Given the description of an element on the screen output the (x, y) to click on. 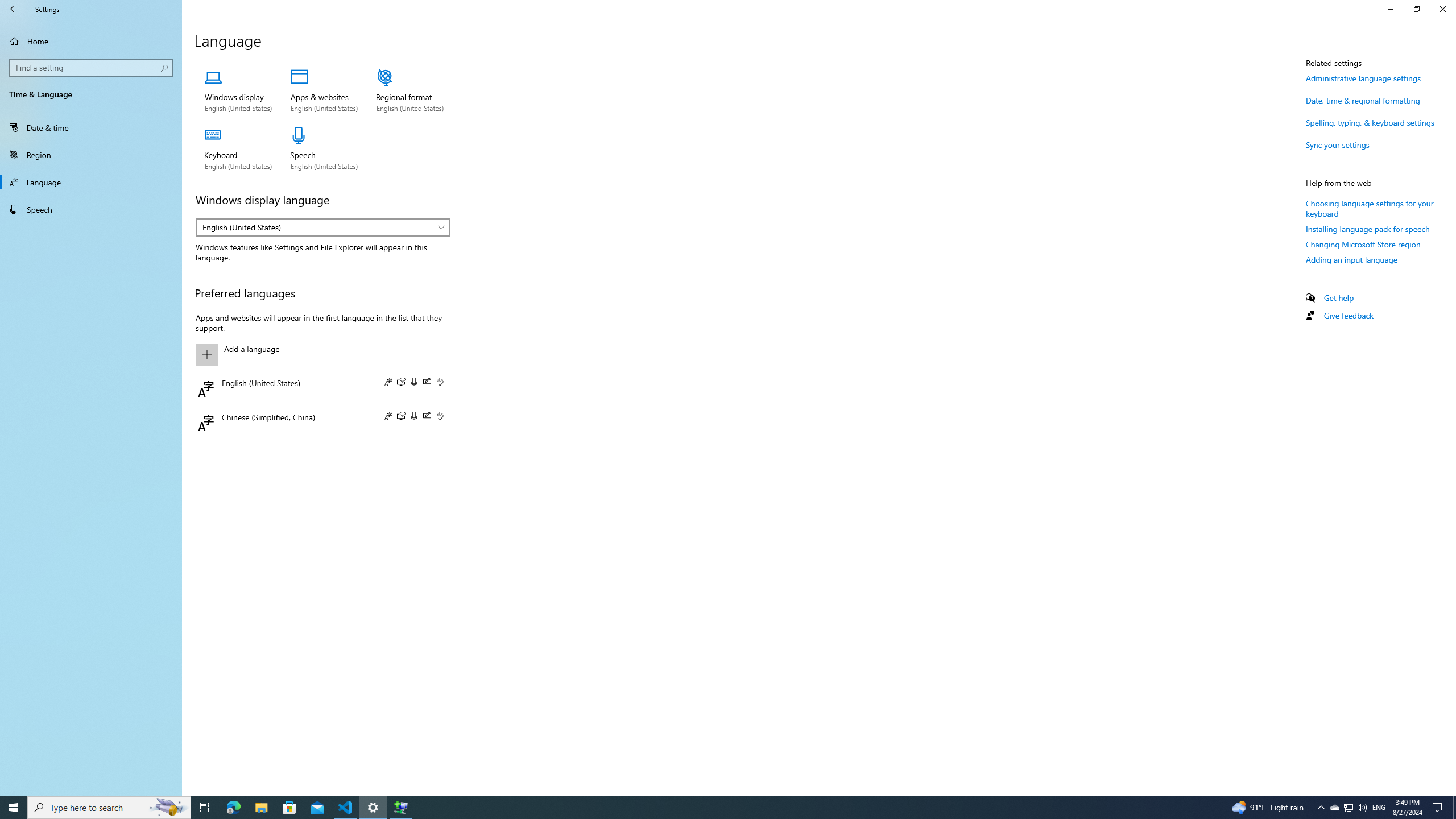
Back (13, 9)
Region (91, 154)
Manage keyboard language (238, 148)
Running applications (706, 807)
Sync your settings (1338, 144)
Administrative language settings (1363, 77)
Minimize Settings (1390, 9)
Choosing language settings for your keyboard (1370, 207)
Get help (1338, 297)
Restore Settings (1416, 9)
